Given the description of an element on the screen output the (x, y) to click on. 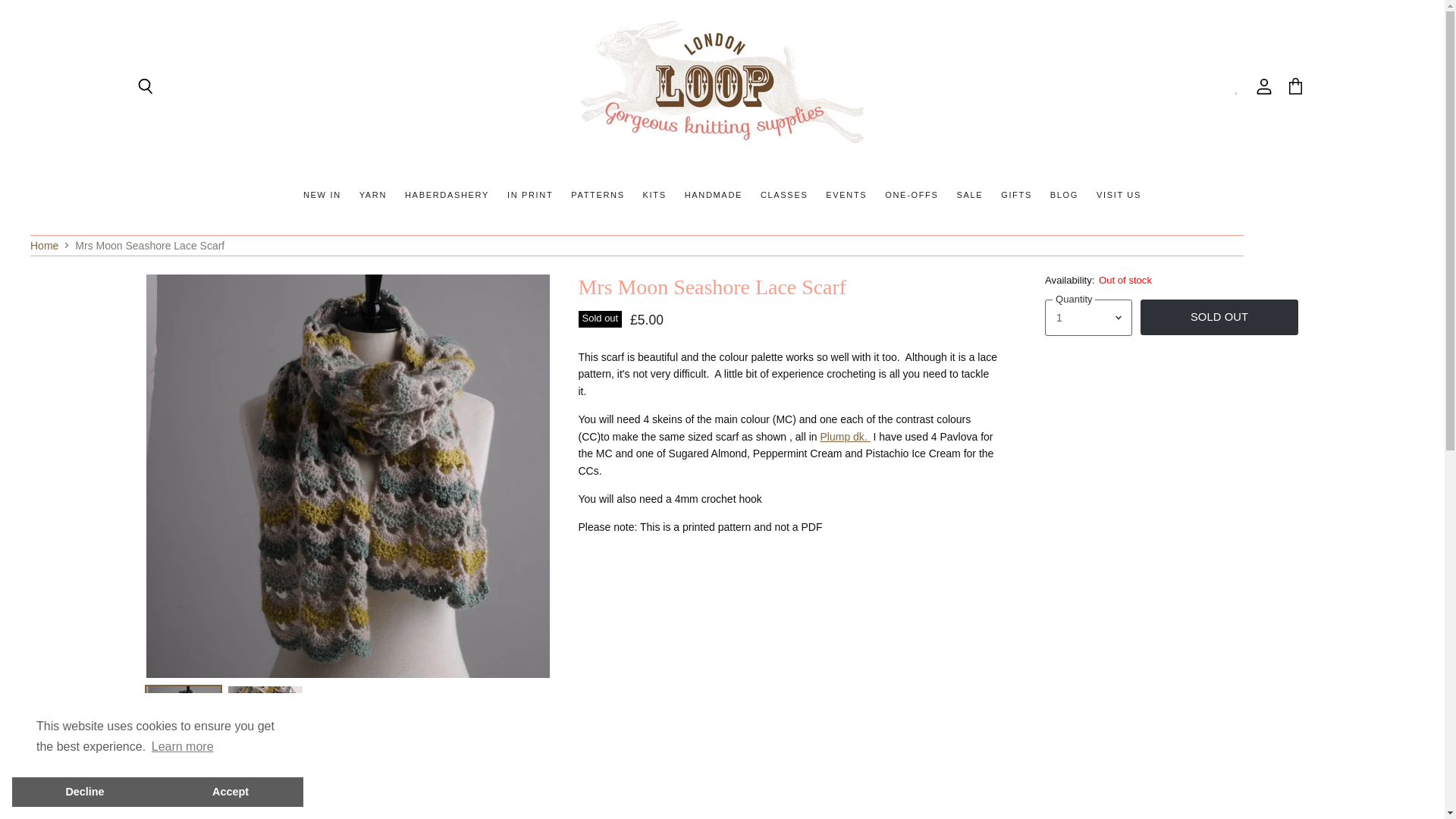
Accept (229, 791)
YARN (373, 194)
View account (1264, 86)
Learn more (182, 746)
Decline (84, 791)
Search (145, 86)
NEW IN (322, 194)
